Given the description of an element on the screen output the (x, y) to click on. 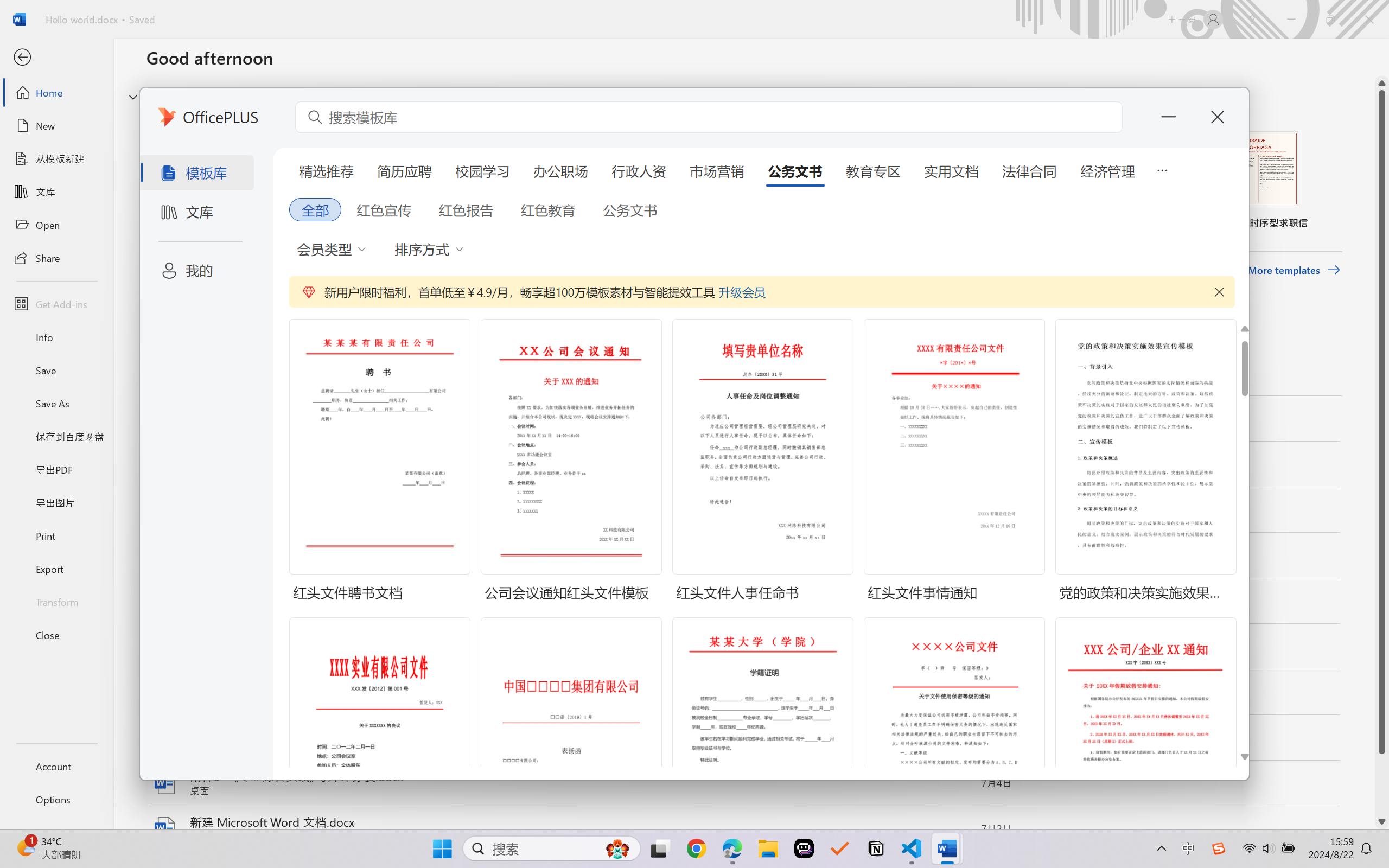
Class: NetUIScrollBar (1382, 452)
Account (56, 765)
Close (1369, 19)
Minimize (1291, 19)
Restore Down (1330, 19)
Print (56, 535)
